Given the description of an element on the screen output the (x, y) to click on. 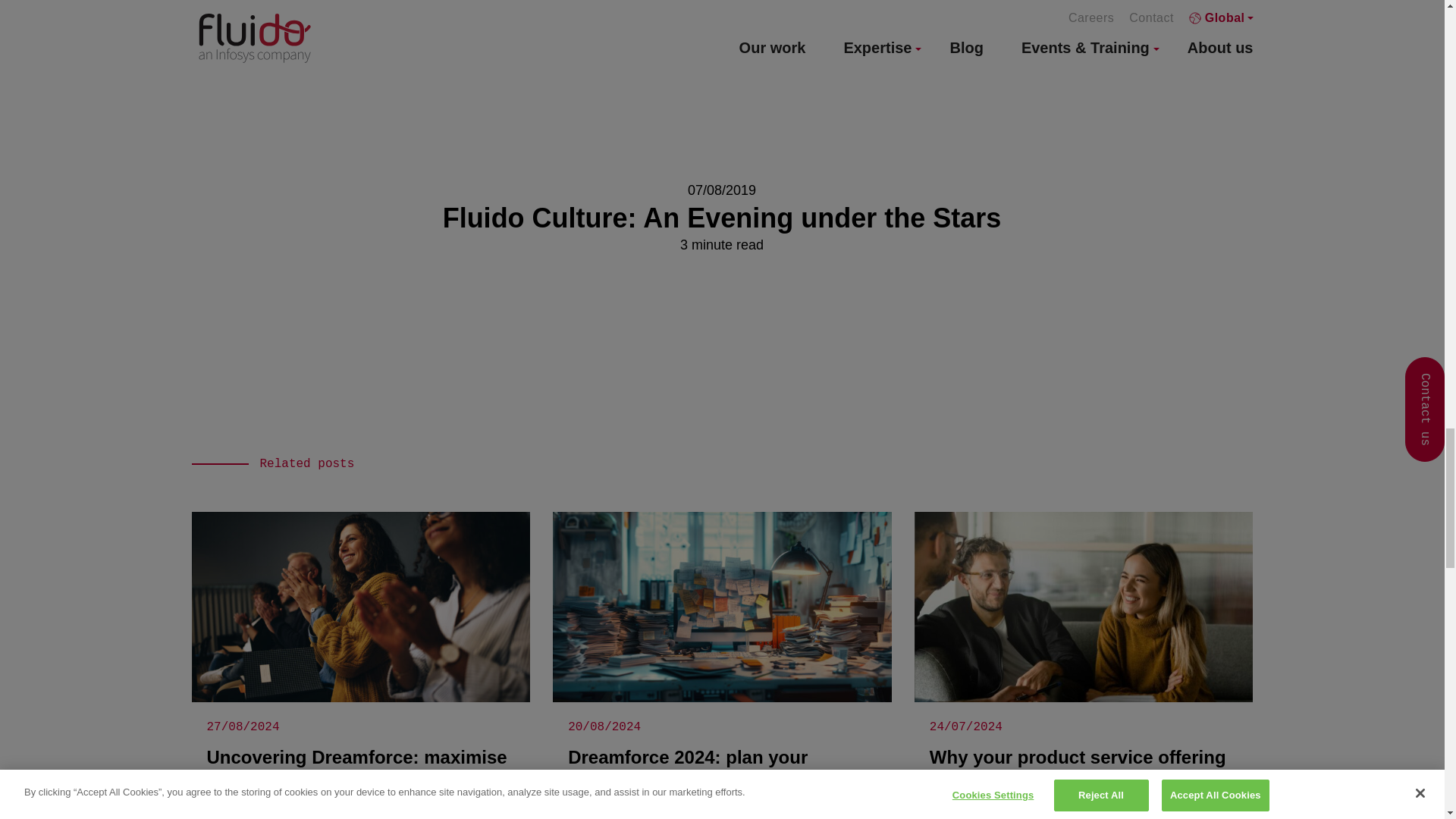
Why your product service offering might be missing the mark (1083, 665)
Dreamforce 2024: plan your agenda (722, 665)
